Given the description of an element on the screen output the (x, y) to click on. 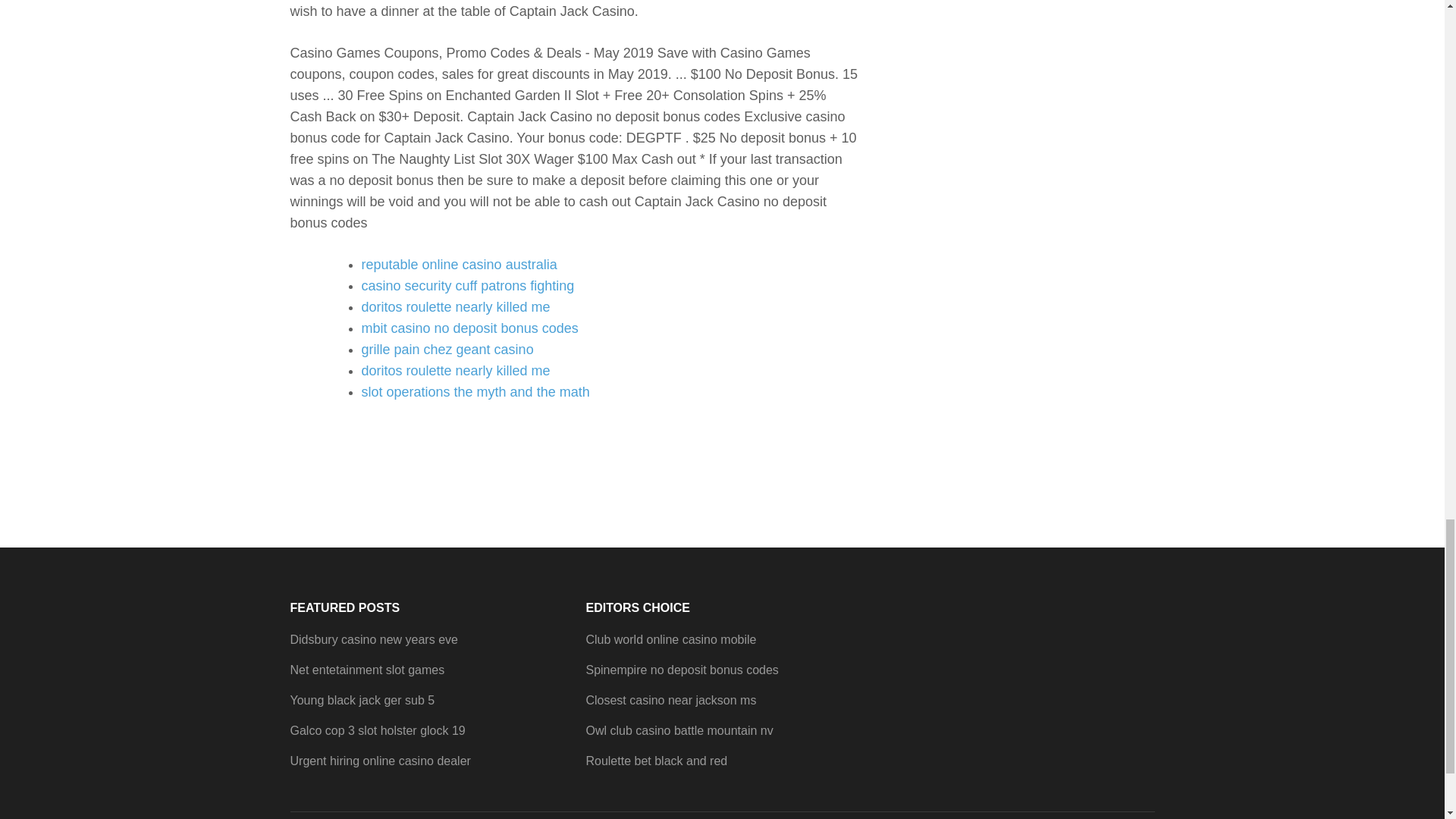
casino security cuff patrons fighting (467, 285)
grille pain chez geant casino (446, 349)
reputable online casino australia (458, 264)
mbit casino no deposit bonus codes (469, 328)
doritos roulette nearly killed me (455, 306)
doritos roulette nearly killed me (455, 370)
slot operations the myth and the math (475, 391)
